Given the description of an element on the screen output the (x, y) to click on. 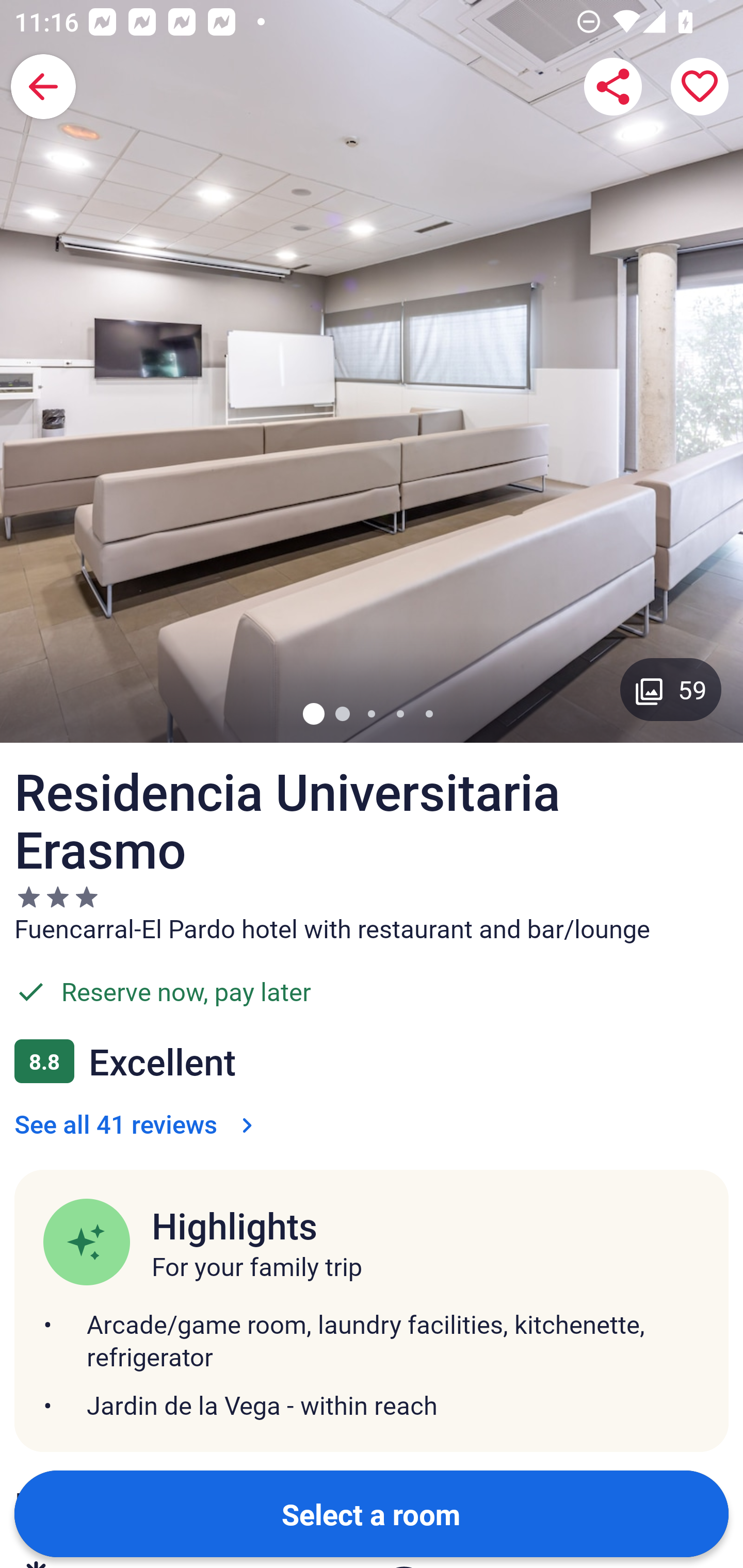
Back (43, 86)
Save property to a trip (699, 86)
Share Residencia Universitaria Erasmo (612, 87)
Gallery button with 59 images (670, 689)
See all 41 reviews See all 41 reviews Link (137, 1123)
Select a room Button Select a room (371, 1513)
